Given the description of an element on the screen output the (x, y) to click on. 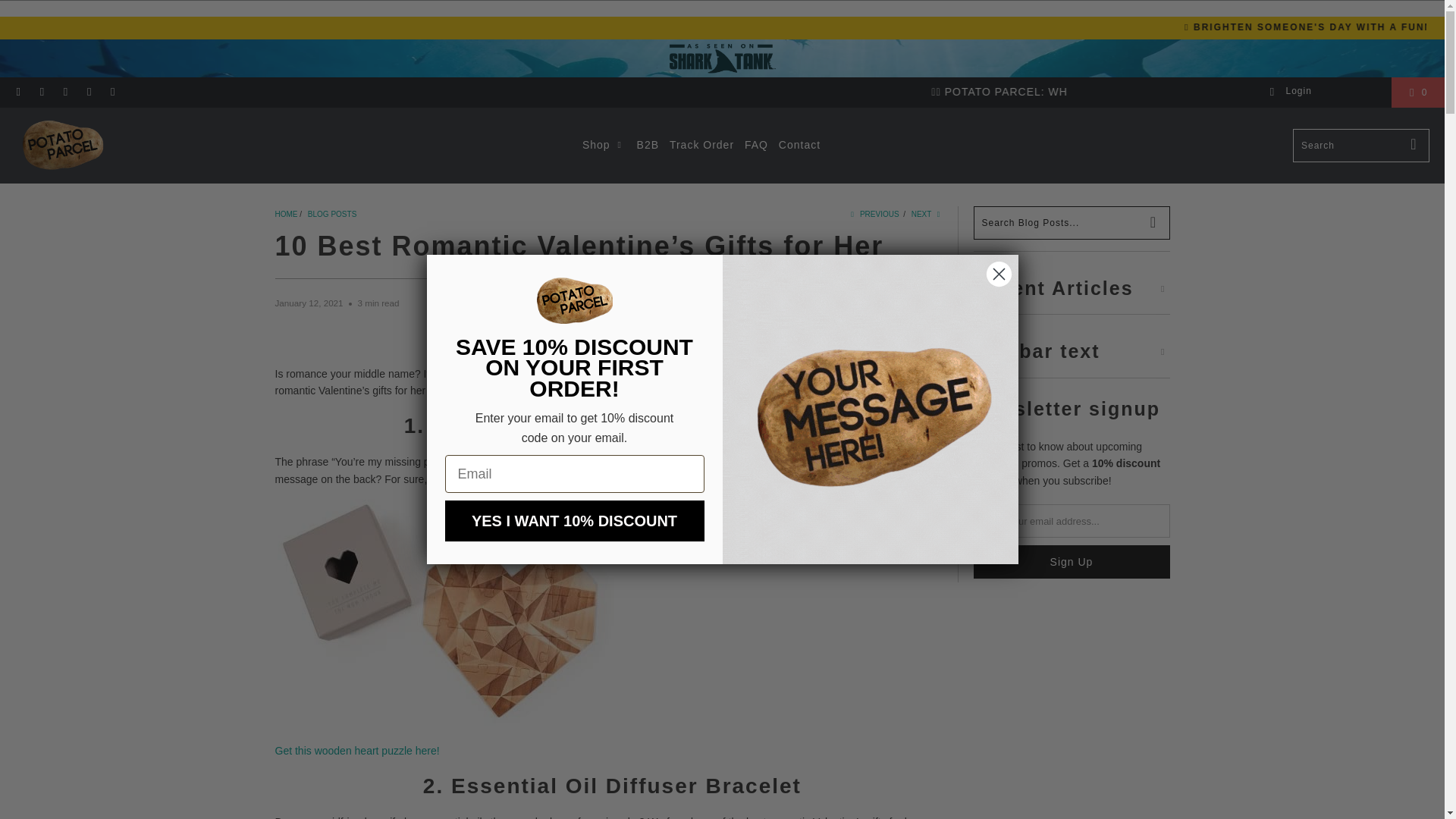
Sign Up (1072, 561)
Jigsaw Heart Puzzle-Potato Parcel (446, 721)
Jigsaw Heart Puzzle-Potato Parcel (357, 750)
My Account  (1287, 91)
Blog Posts (331, 213)
